Given the description of an element on the screen output the (x, y) to click on. 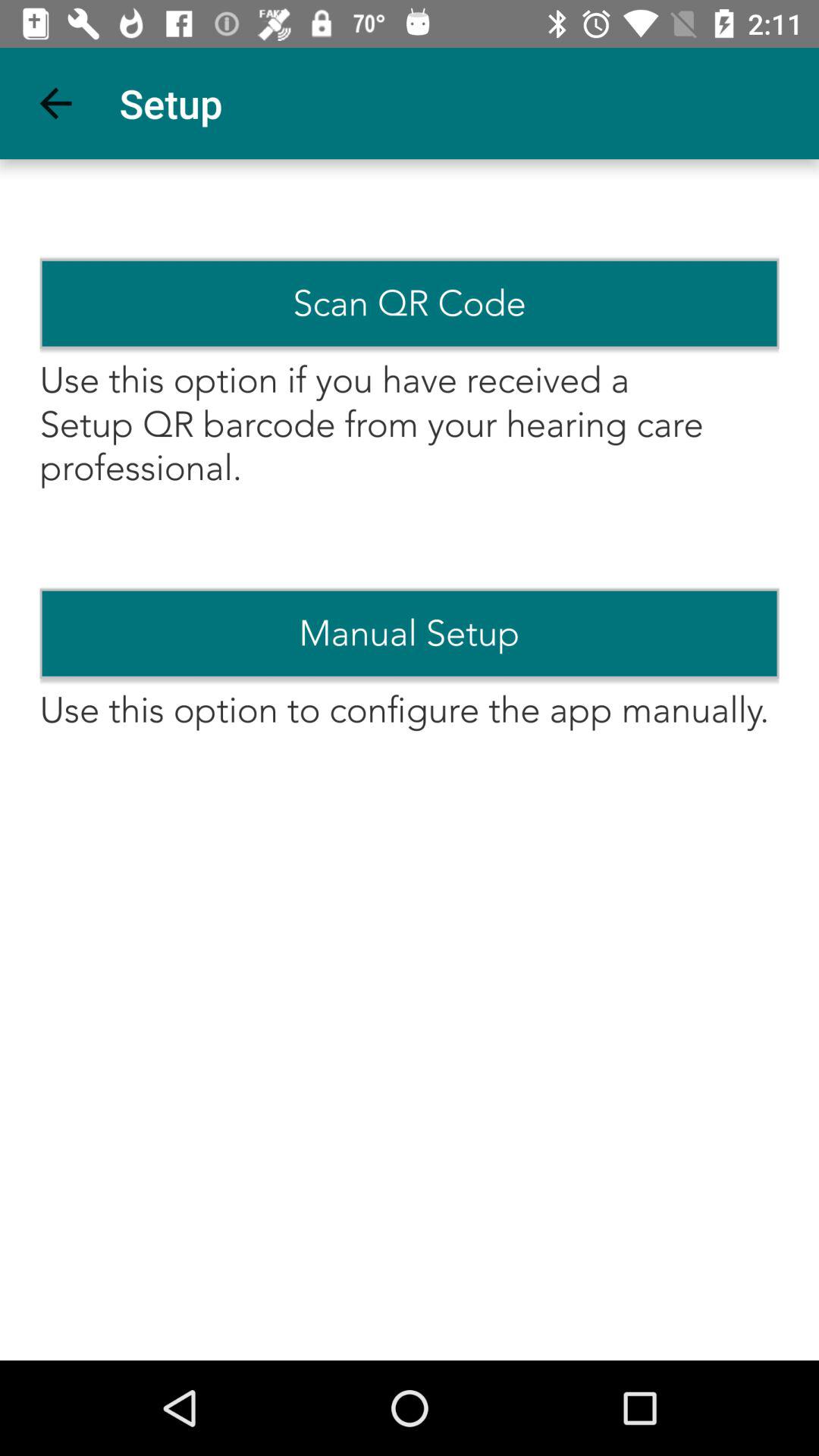
swipe to scan qr code item (409, 303)
